Given the description of an element on the screen output the (x, y) to click on. 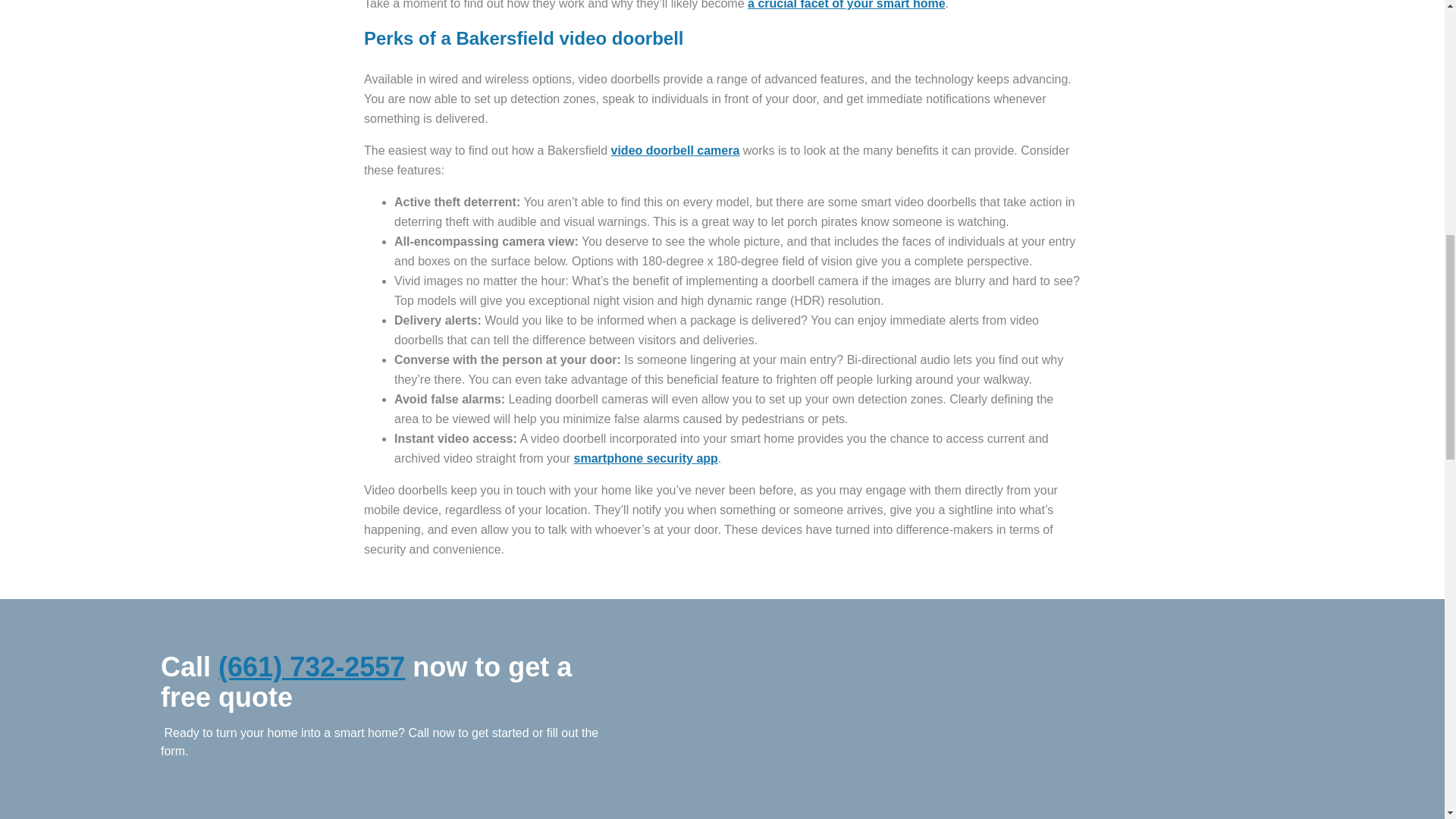
smartphone security app (645, 458)
video doorbell camera (675, 150)
a crucial facet of your smart home (846, 4)
